Given the description of an element on the screen output the (x, y) to click on. 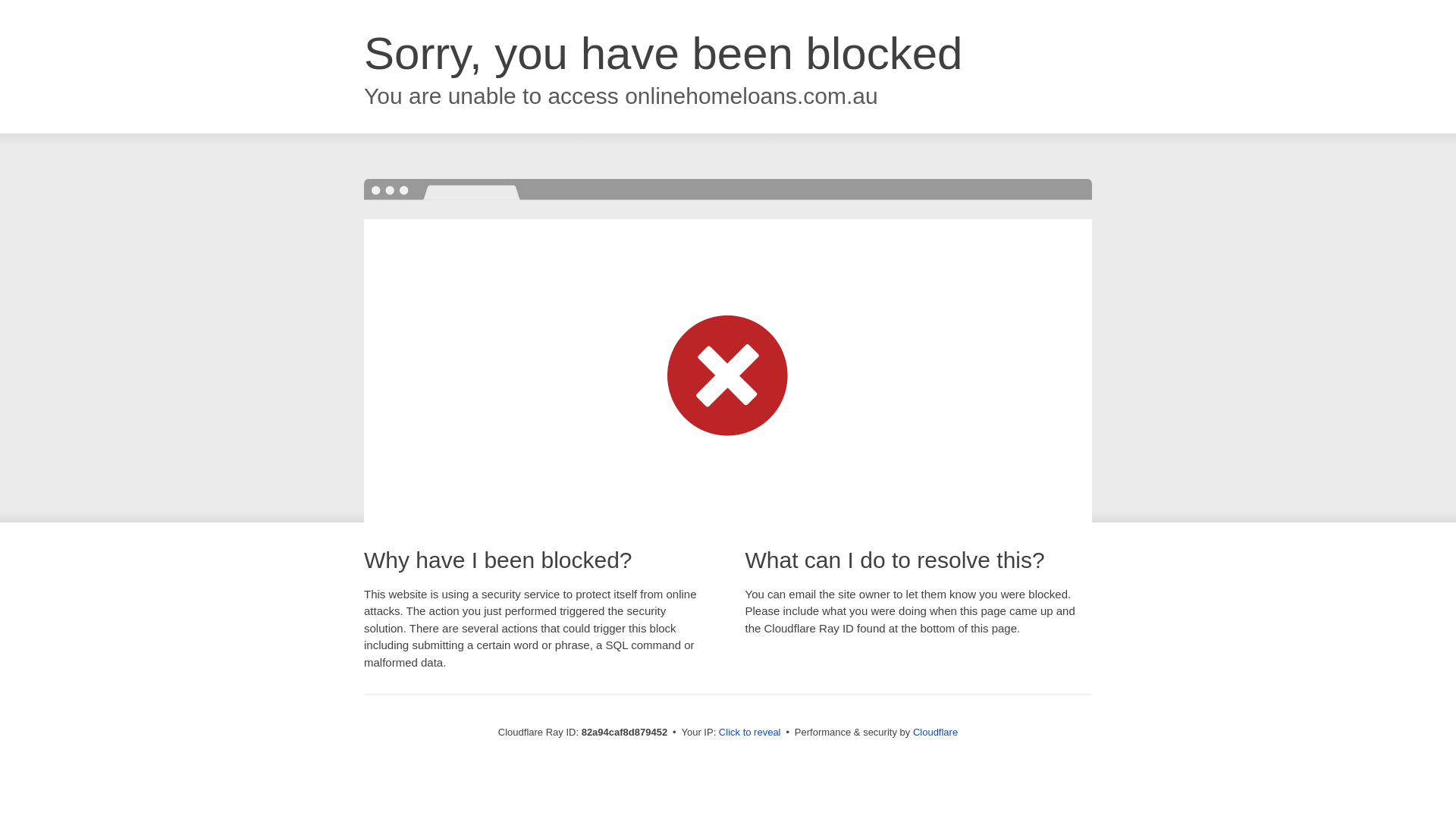
Cloudflare Element type: text (935, 731)
Click to reveal Element type: text (749, 732)
